Given the description of an element on the screen output the (x, y) to click on. 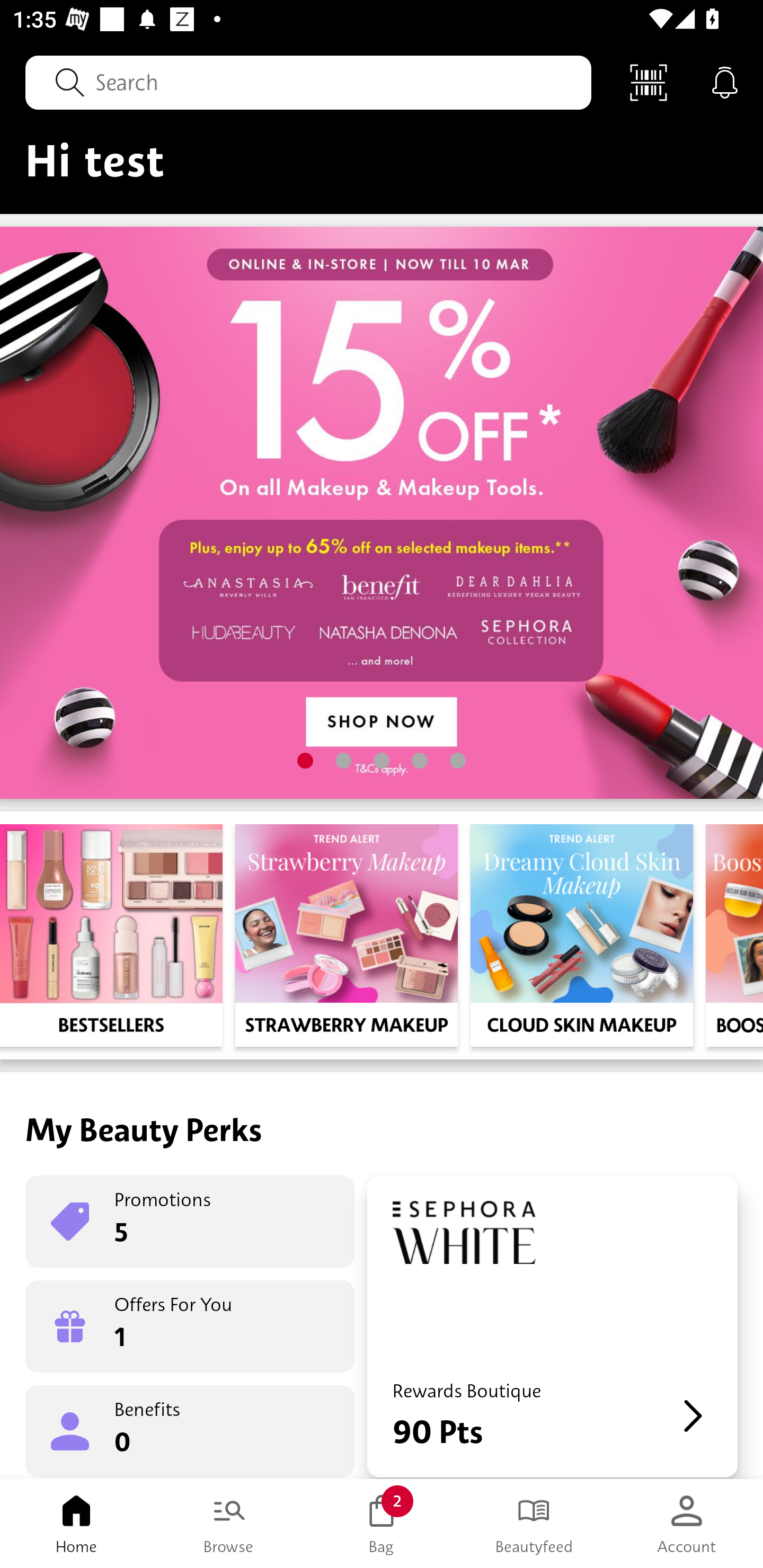
Scan Code (648, 81)
Notifications (724, 81)
Search (308, 81)
Promotions 5 (189, 1221)
Rewards Boutique 90 Pts (552, 1326)
Offers For You 1 (189, 1326)
Benefits 0 (189, 1430)
Browse (228, 1523)
Bag 2 Bag (381, 1523)
Beautyfeed (533, 1523)
Account (686, 1523)
